Given the description of an element on the screen output the (x, y) to click on. 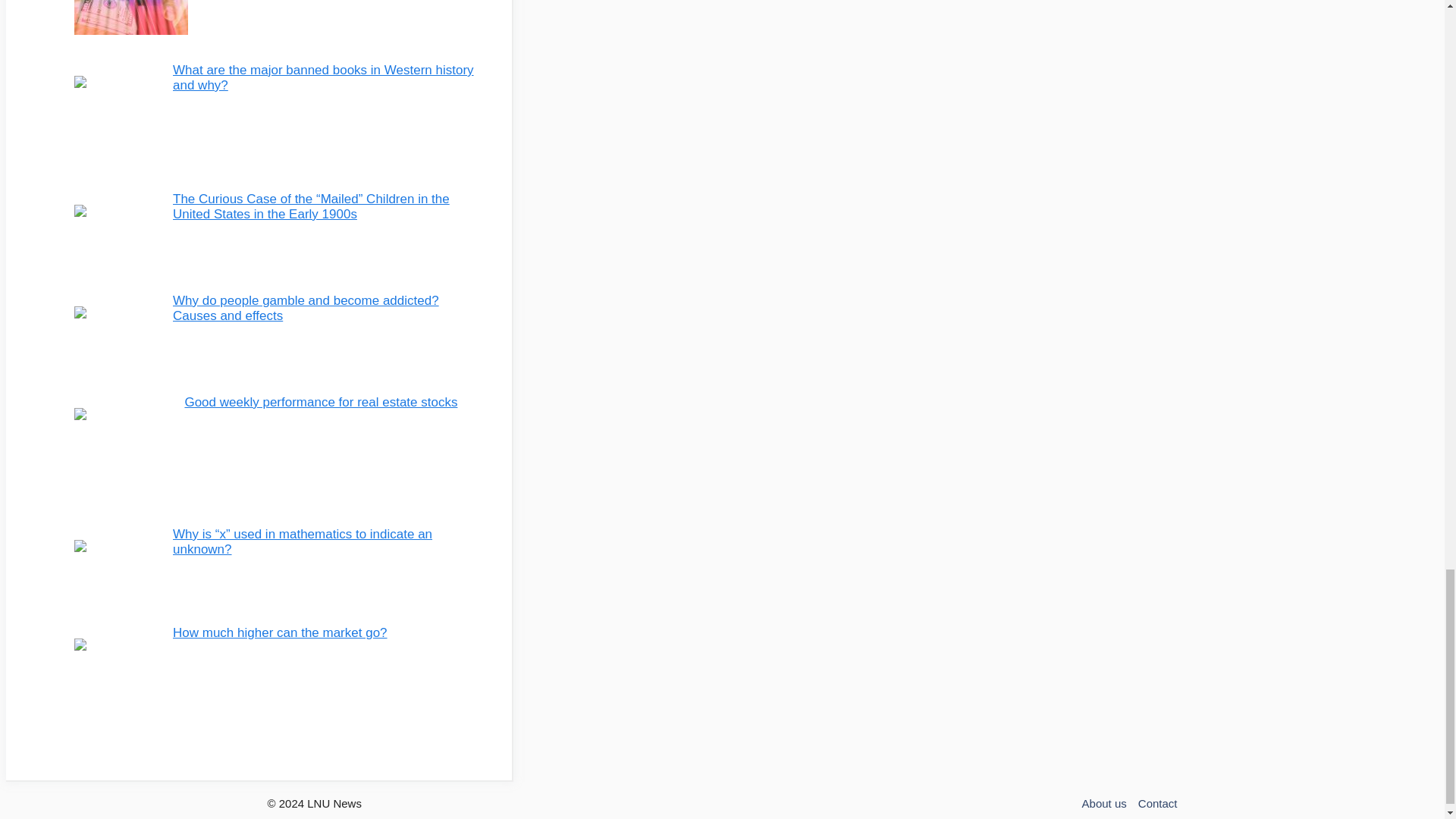
About us (1103, 802)
How much higher can the market go? (280, 632)
What are the major banned books in Western history and why? (323, 77)
Good weekly performance for real estate stocks (320, 401)
Why do people gamble and become addicted? Causes and effects (306, 307)
Contact (1157, 802)
